Given the description of an element on the screen output the (x, y) to click on. 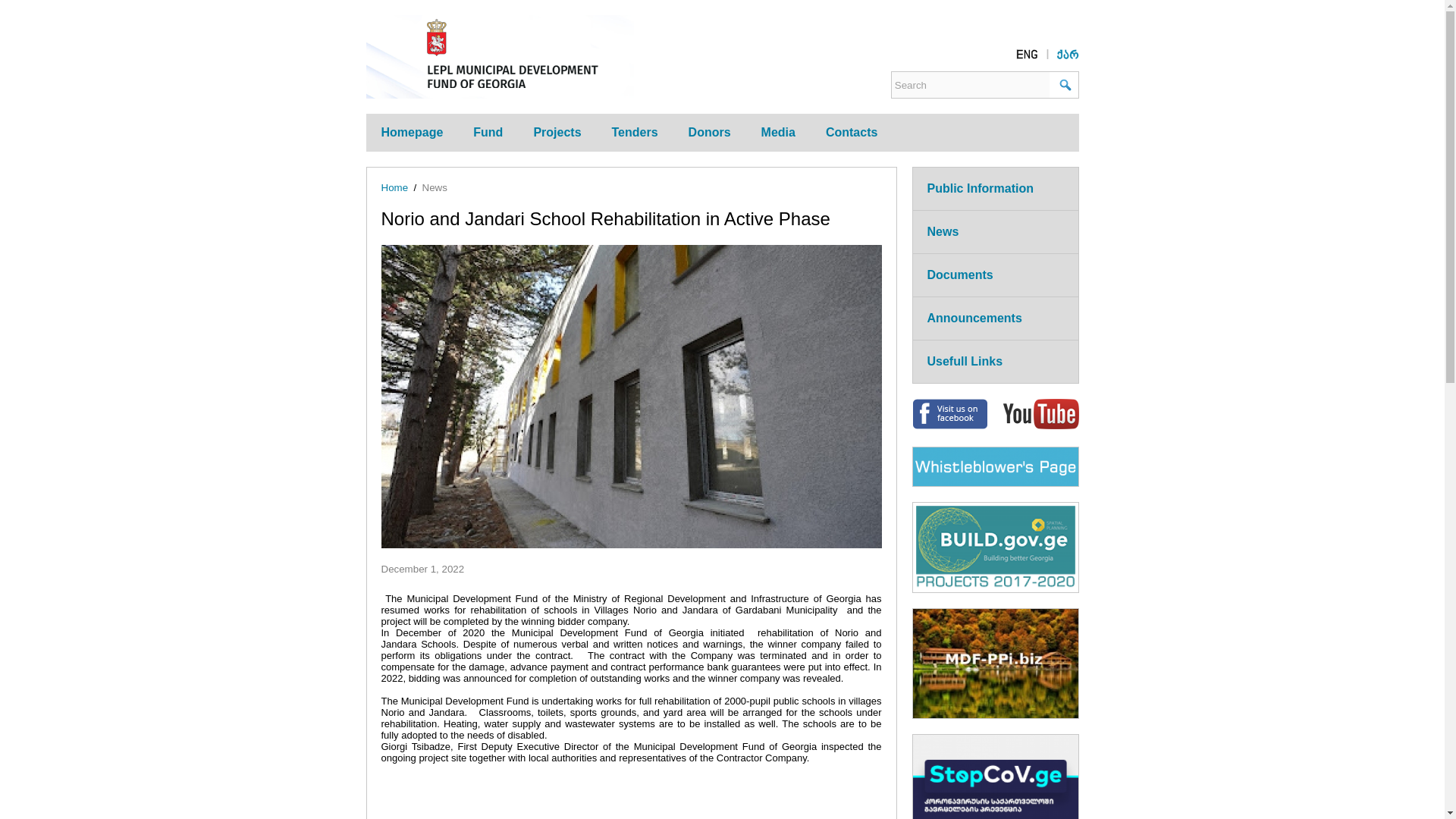
News (942, 231)
Tenders (634, 132)
Media (777, 132)
Fund (488, 132)
Documents (959, 274)
Announcements (974, 318)
Homepage (411, 132)
Projects (556, 132)
Usefull Links (964, 360)
Home (393, 187)
Donors (708, 132)
News (434, 187)
Public Information (979, 187)
Contacts (851, 132)
